Given the description of an element on the screen output the (x, y) to click on. 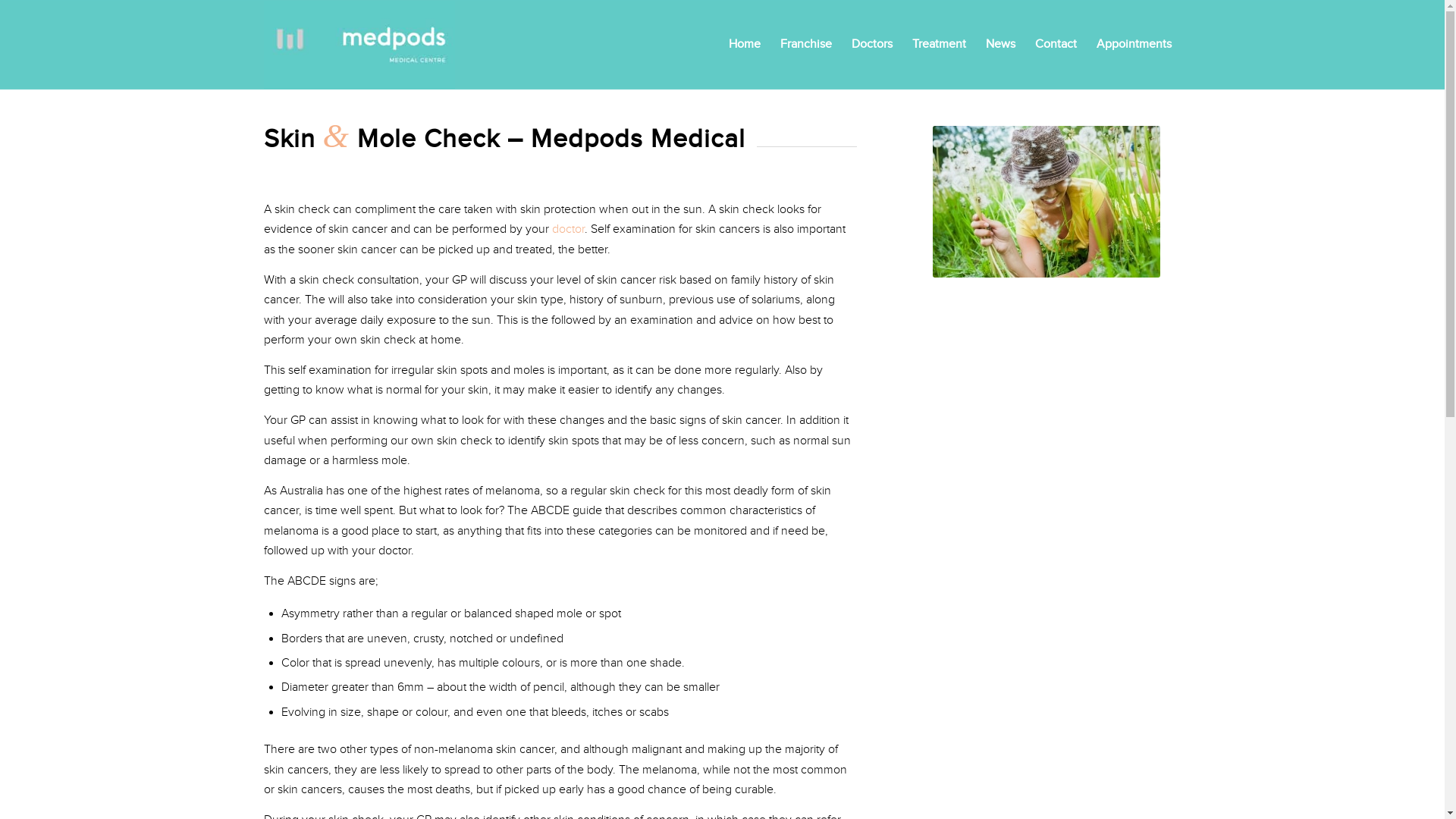
News Element type: text (999, 44)
doctor Element type: text (568, 229)
Doctors Element type: text (871, 44)
Contact Element type: text (1055, 44)
Treatment Element type: text (938, 44)
Home Element type: text (744, 44)
Appointments Element type: text (1132, 44)
Franchise Element type: text (805, 44)
